Given the description of an element on the screen output the (x, y) to click on. 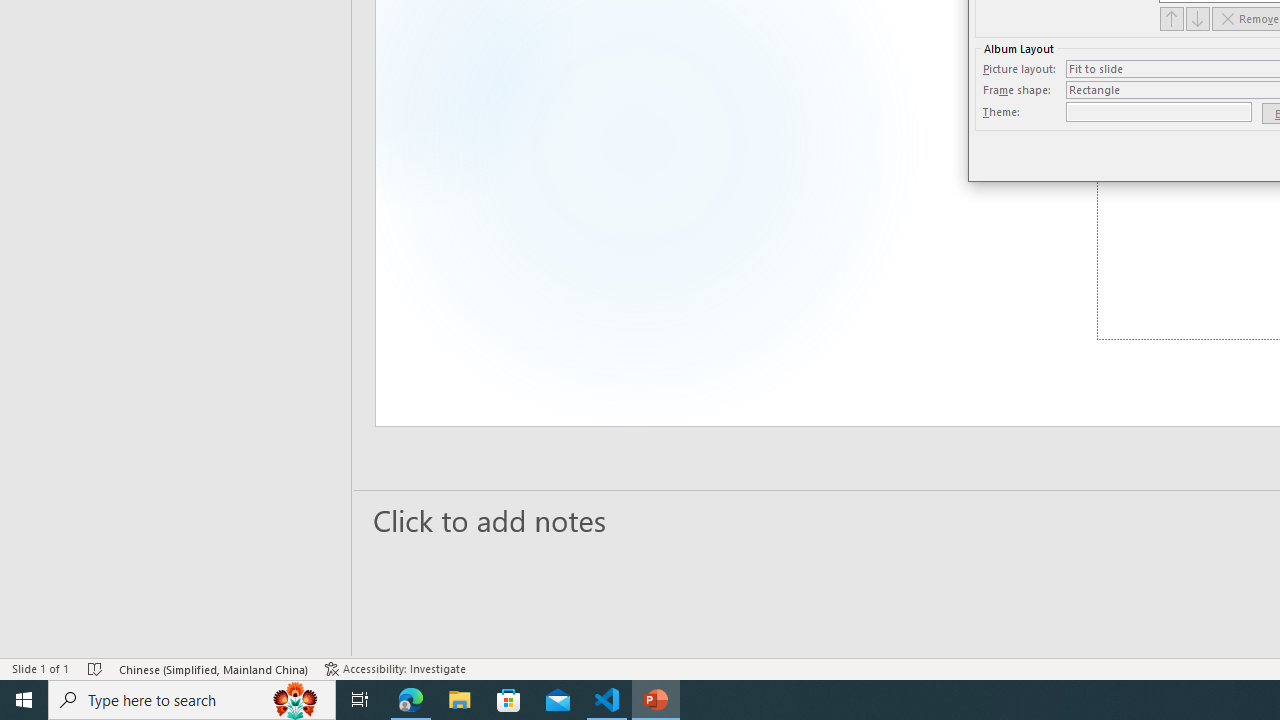
Next Item (1197, 18)
Previous Item (1171, 18)
Theme (1158, 111)
